Given the description of an element on the screen output the (x, y) to click on. 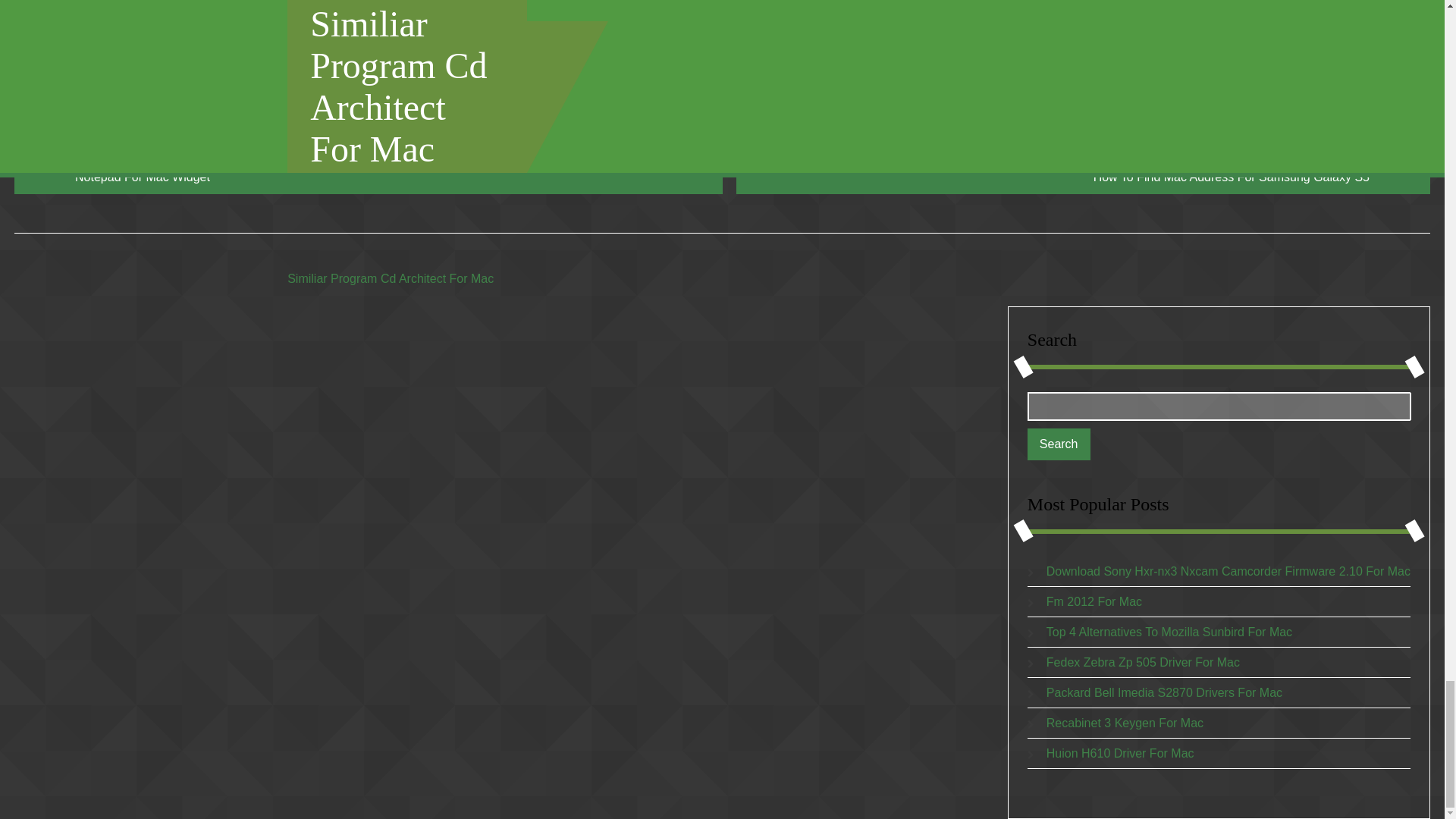
Search (1058, 444)
Fedex Zebra Zp 505 Driver For Mac (1143, 662)
Notepad For Mac Widget (368, 177)
Packard Bell Imedia S2870 Drivers For Mac (1164, 692)
Recabinet 3 Keygen For Mac (1125, 722)
Search (1058, 444)
How To Find Mac Address For Samsung Galaxy S5 (1082, 177)
Similiar Program Cd Architect For Mac (389, 278)
Top 4 Alternatives To Mozilla Sunbird For Mac (1169, 631)
Huion H610 Driver For Mac (1119, 753)
Fm 2012 For Mac (1093, 601)
Download Sony Hxr-nx3 Nxcam Camcorder Firmware 2.10 For Mac (1228, 571)
